Given the description of an element on the screen output the (x, y) to click on. 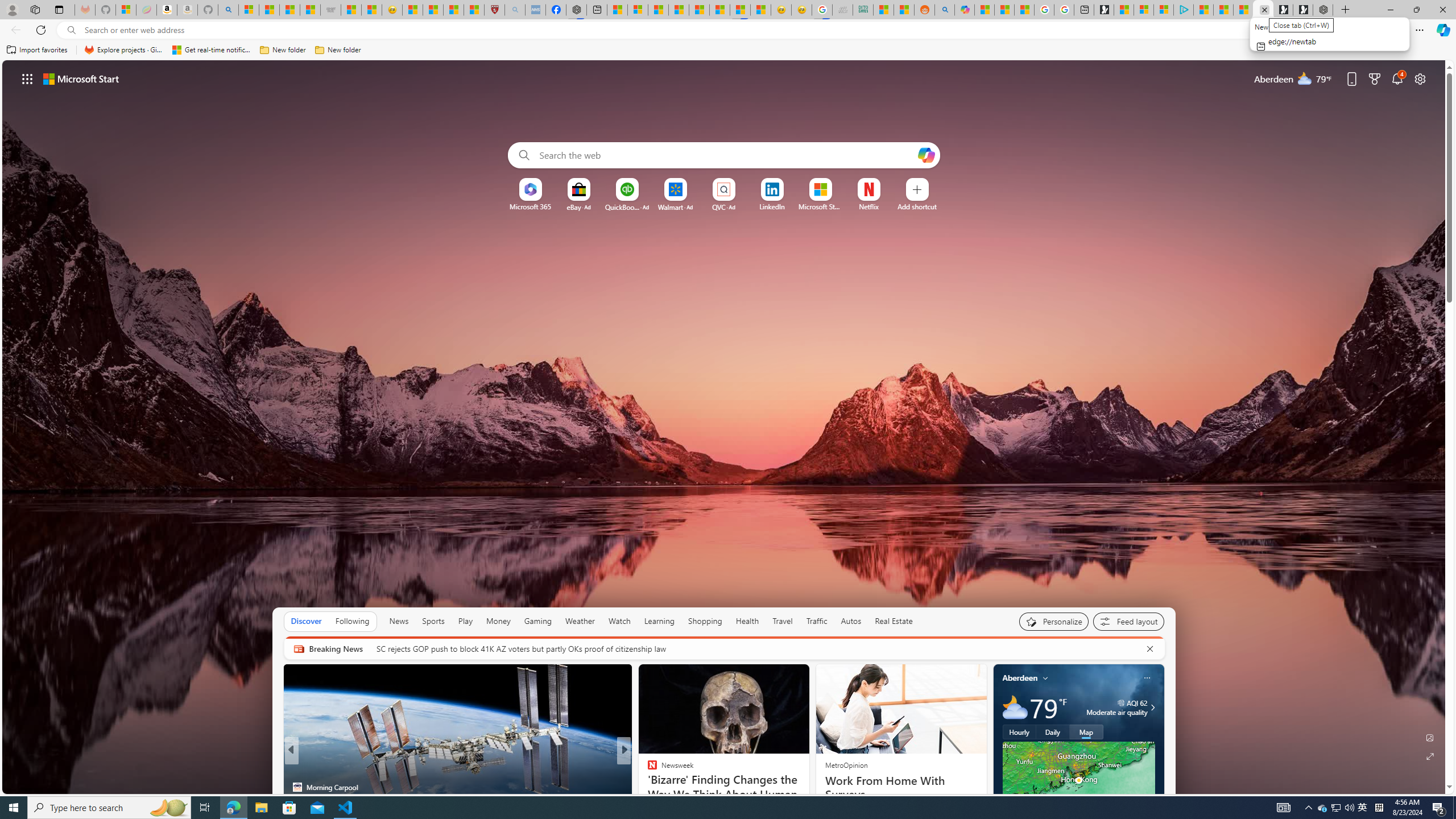
Netflix (869, 206)
12 Popular Science Lies that Must be Corrected (473, 9)
Kinda Frugal (647, 768)
essanews.com (647, 768)
Shopping (705, 621)
Favorites bar (728, 49)
